Given the description of an element on the screen output the (x, y) to click on. 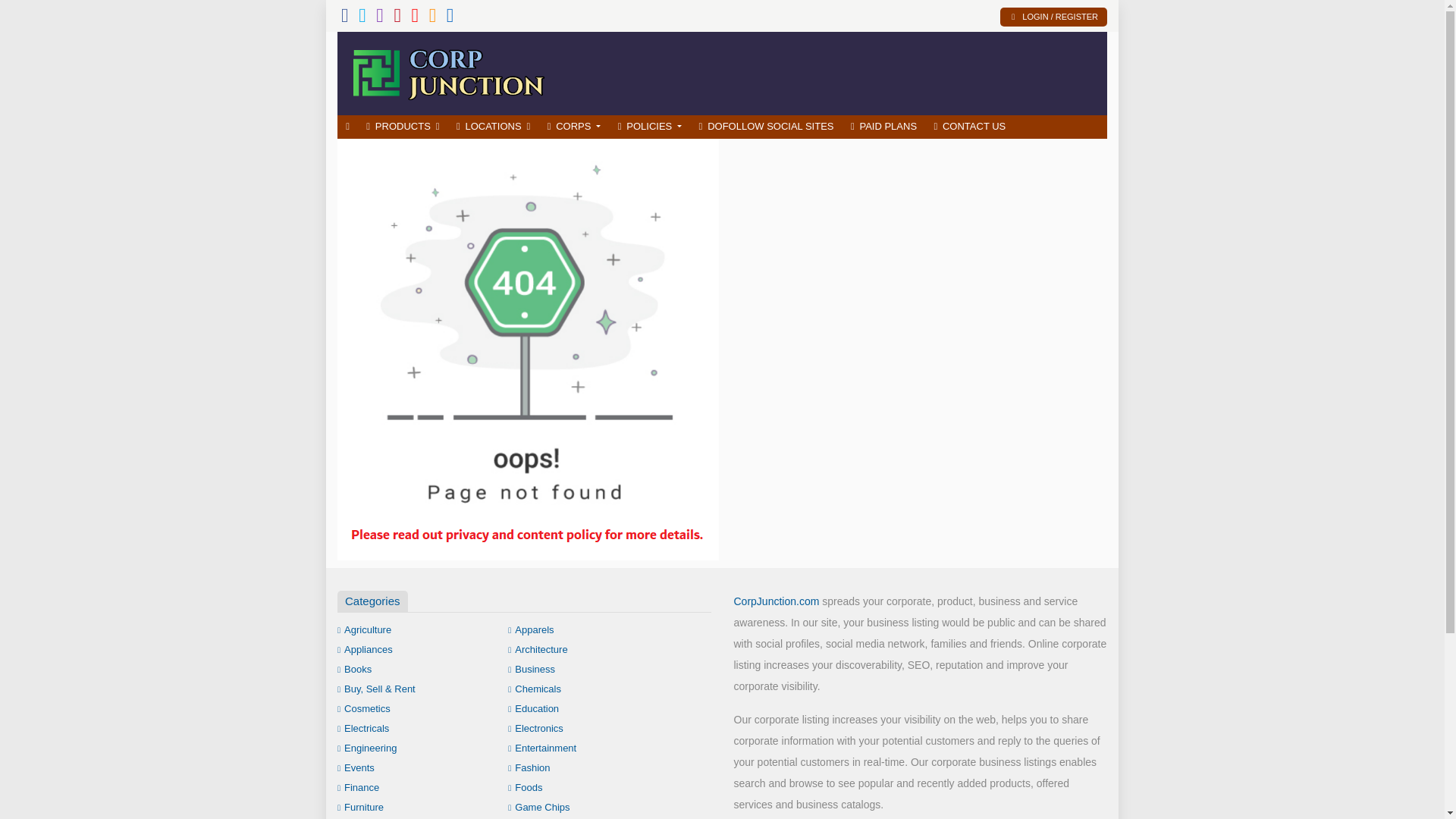
LOCATIONS (493, 126)
Web Discovery Service for People to Discover Great Products (447, 71)
PRODUCTS (403, 126)
